Given the description of an element on the screen output the (x, y) to click on. 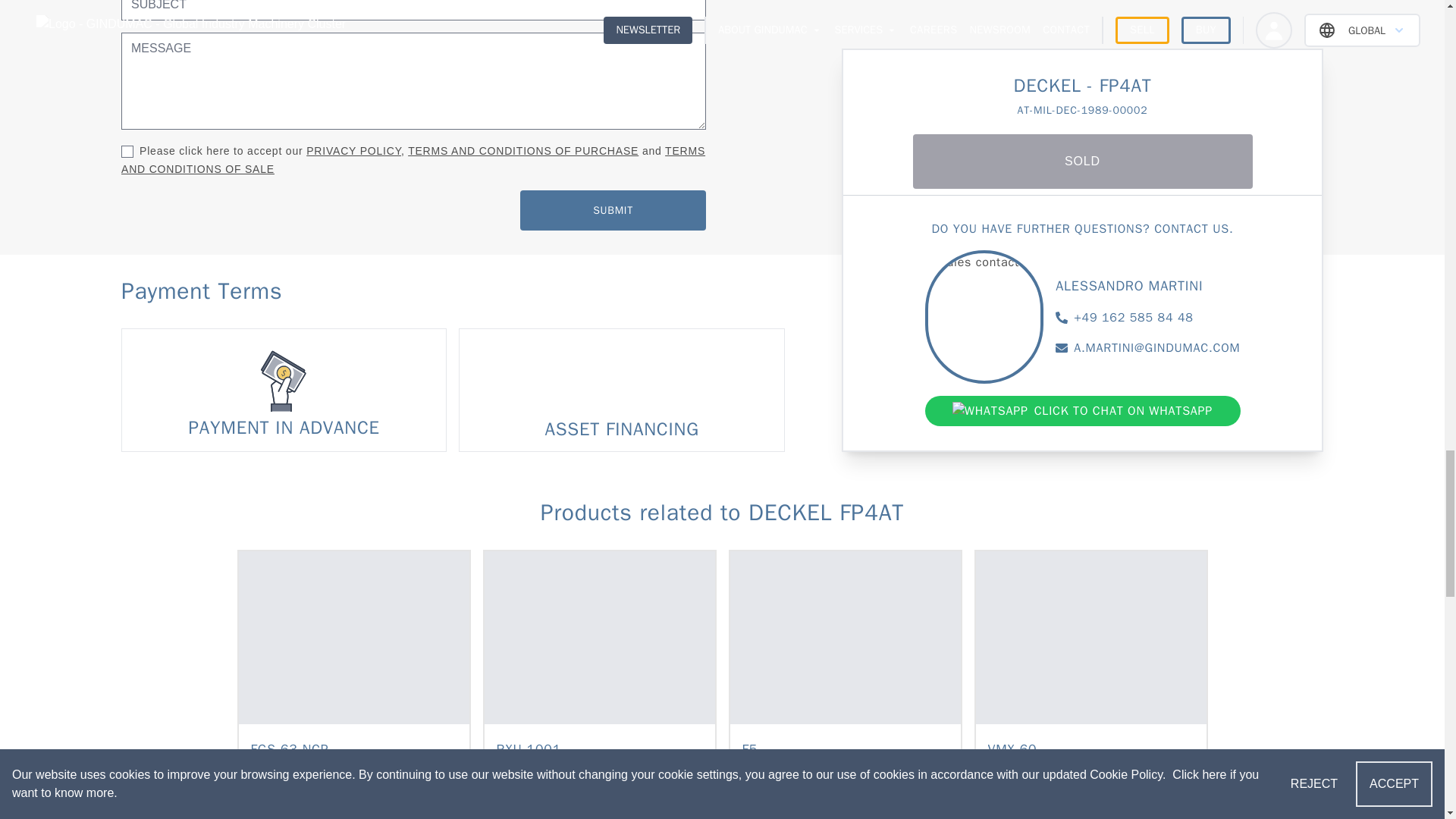
TERMS AND CONDITIONS OF SALE (412, 159)
on (126, 151)
TERMS AND CONDITIONS OF PURCHASE (523, 150)
SUBMIT (612, 210)
PRIVACY POLICY (353, 150)
